Given the description of an element on the screen output the (x, y) to click on. 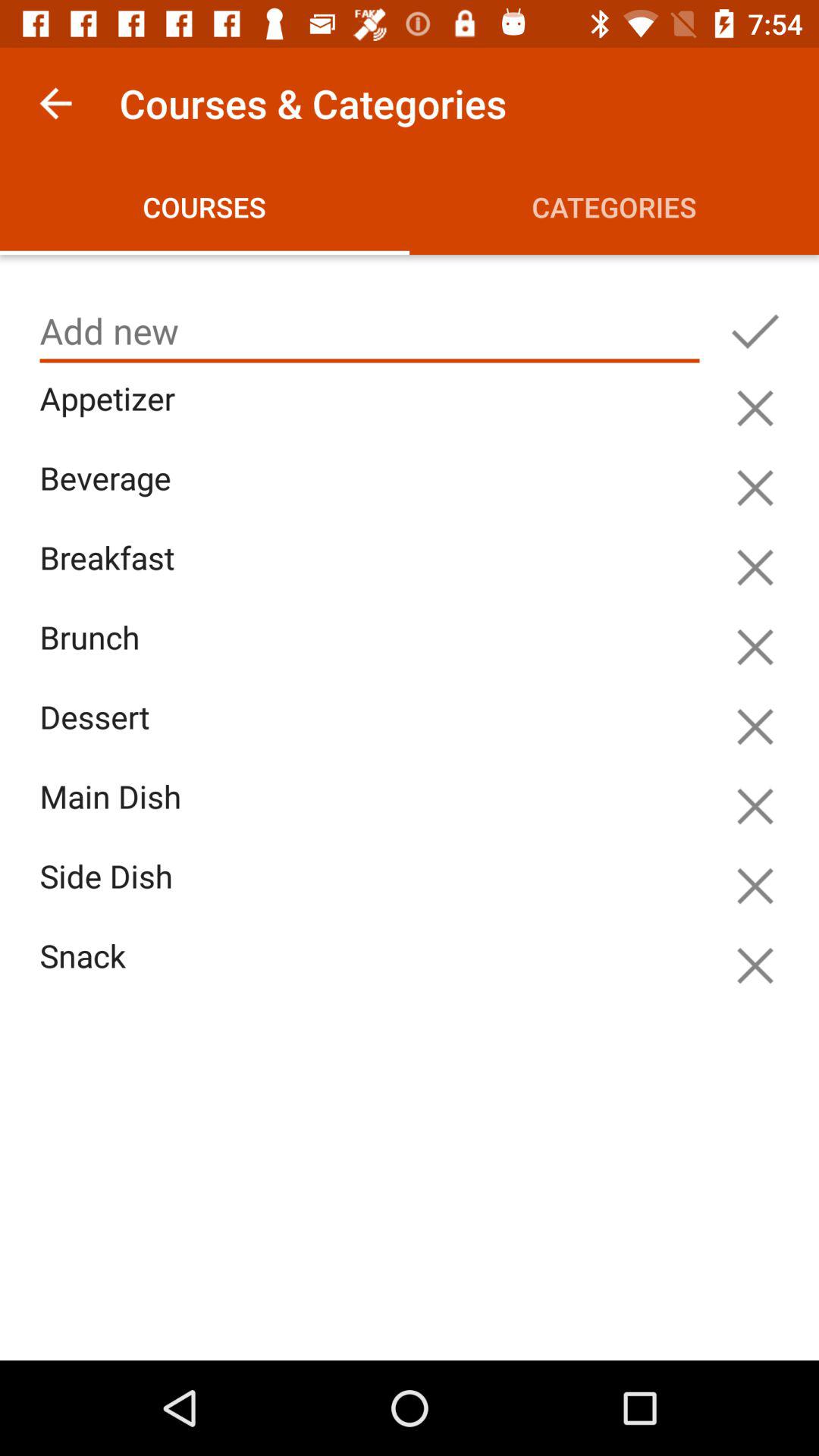
add title (369, 331)
